Given the description of an element on the screen output the (x, y) to click on. 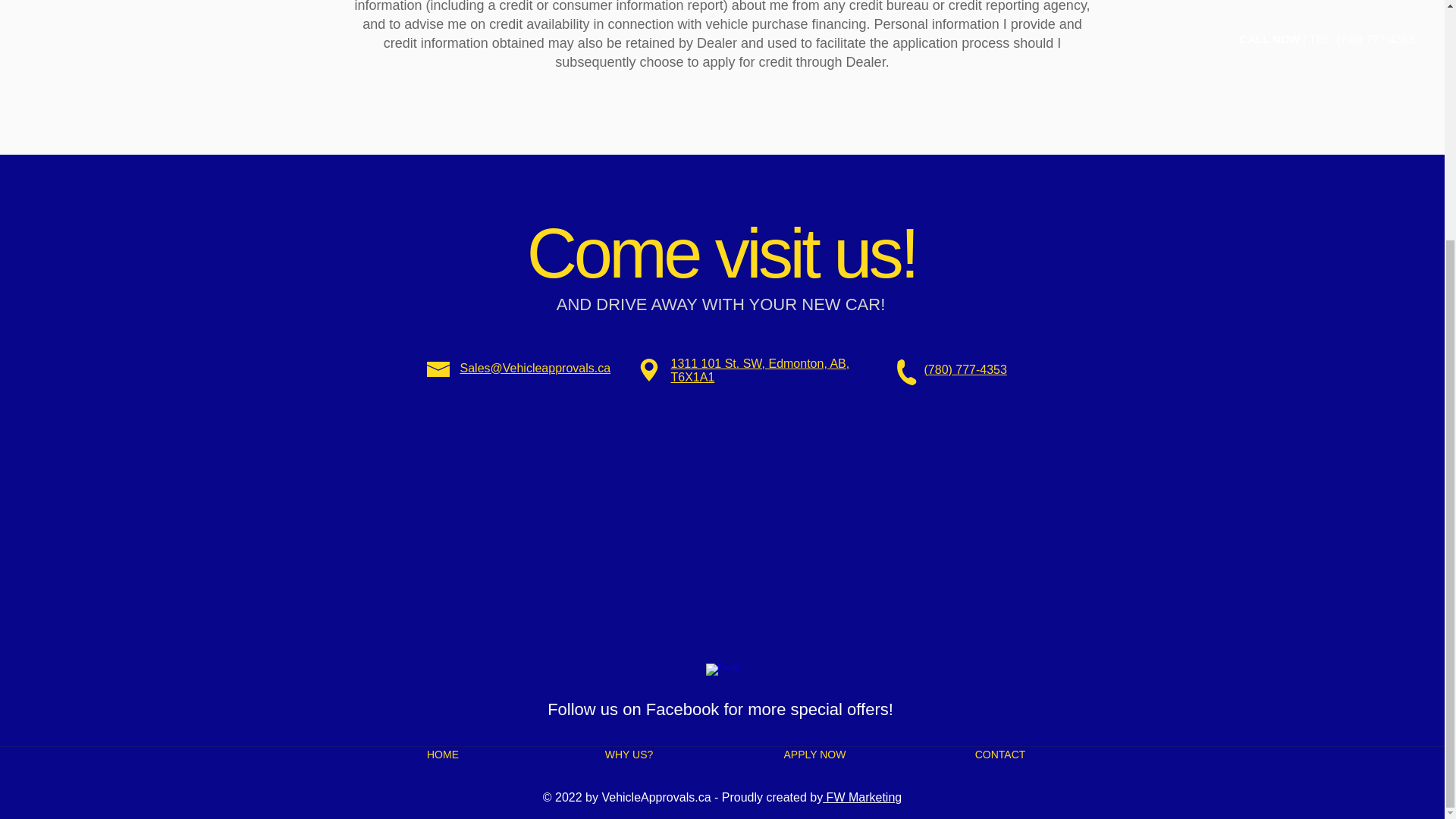
CONTACT (999, 754)
WHY US? (627, 754)
APPLY NOW (814, 754)
HOME (442, 754)
1311 101 St. SW, Edmonton, AB, T6X1A1 (758, 370)
 FW Marketing (861, 797)
Follow us on Facebook for more special offers! (720, 709)
